Given the description of an element on the screen output the (x, y) to click on. 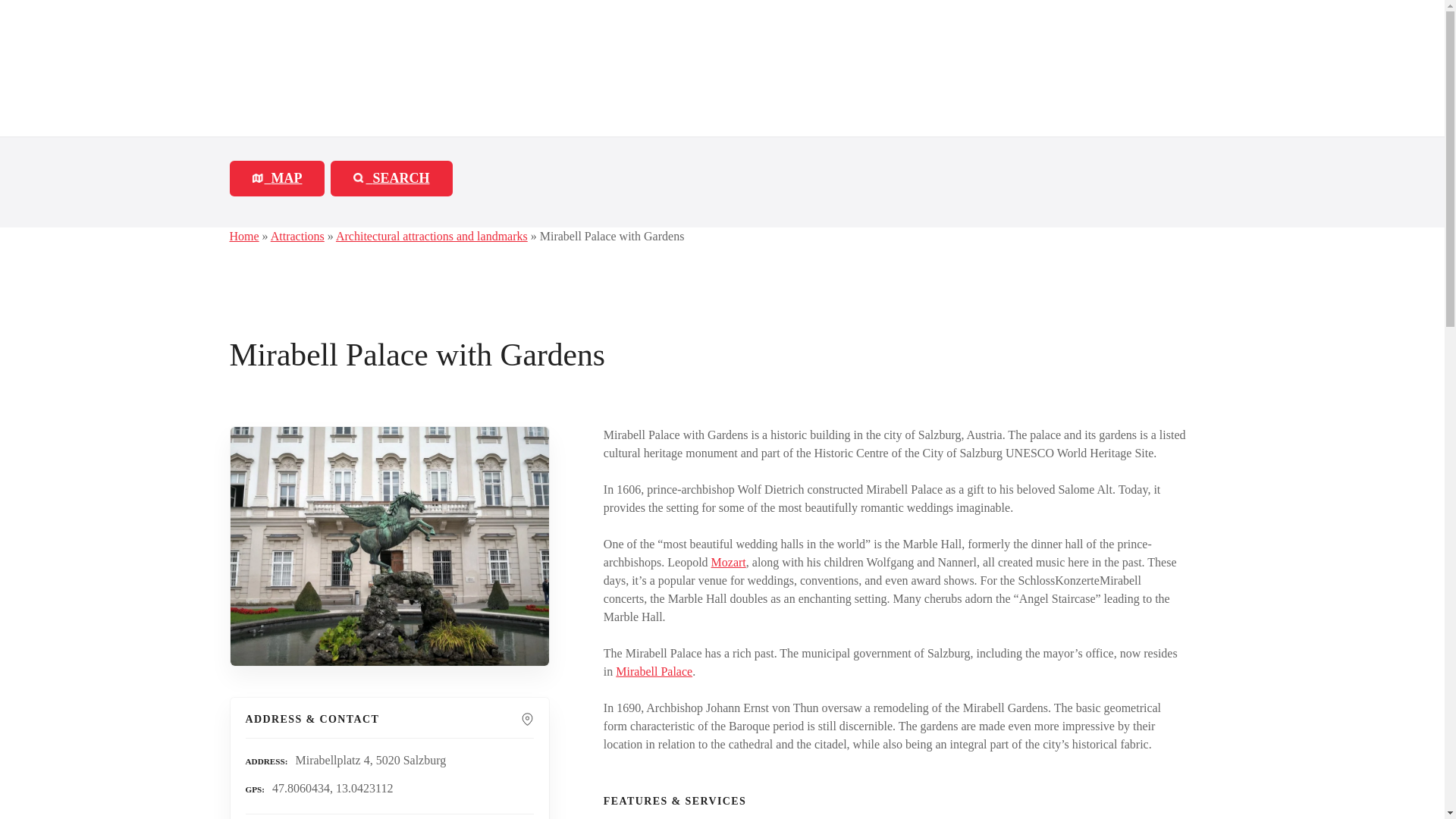
SEARCH (390, 178)
Home (243, 236)
Architectural attractions and landmarks (431, 236)
Mirabell Palace with Gardens 3 (390, 545)
Mirabell Palace with Gardens 1 (257, 177)
Mozart (728, 562)
MAP (276, 178)
Mirabell Palace with Gardens 2 (359, 177)
Attractions (297, 236)
Mirabell Palace (654, 671)
